Given the description of an element on the screen output the (x, y) to click on. 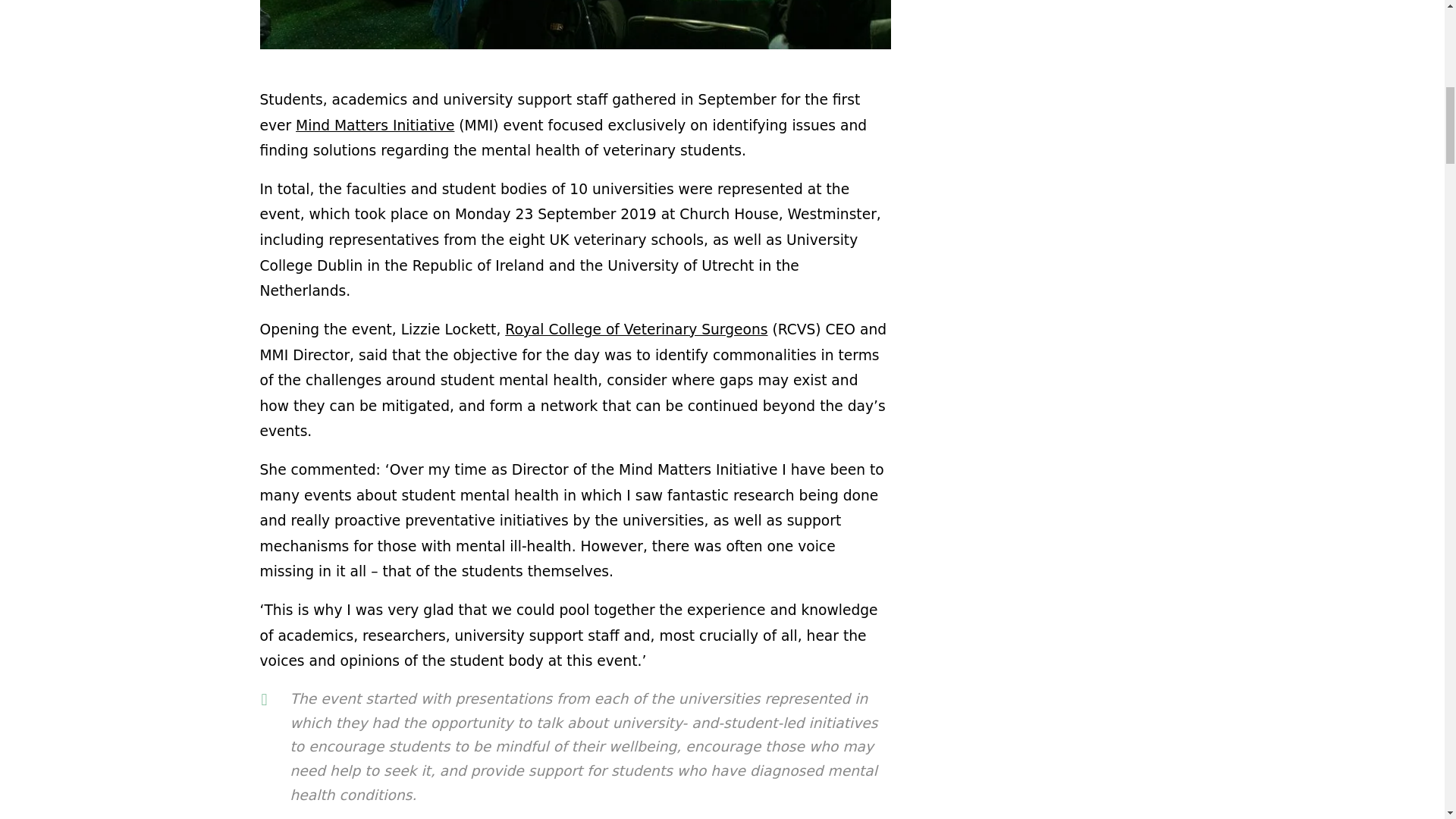
mind matters initiative (575, 28)
